Given the description of an element on the screen output the (x, y) to click on. 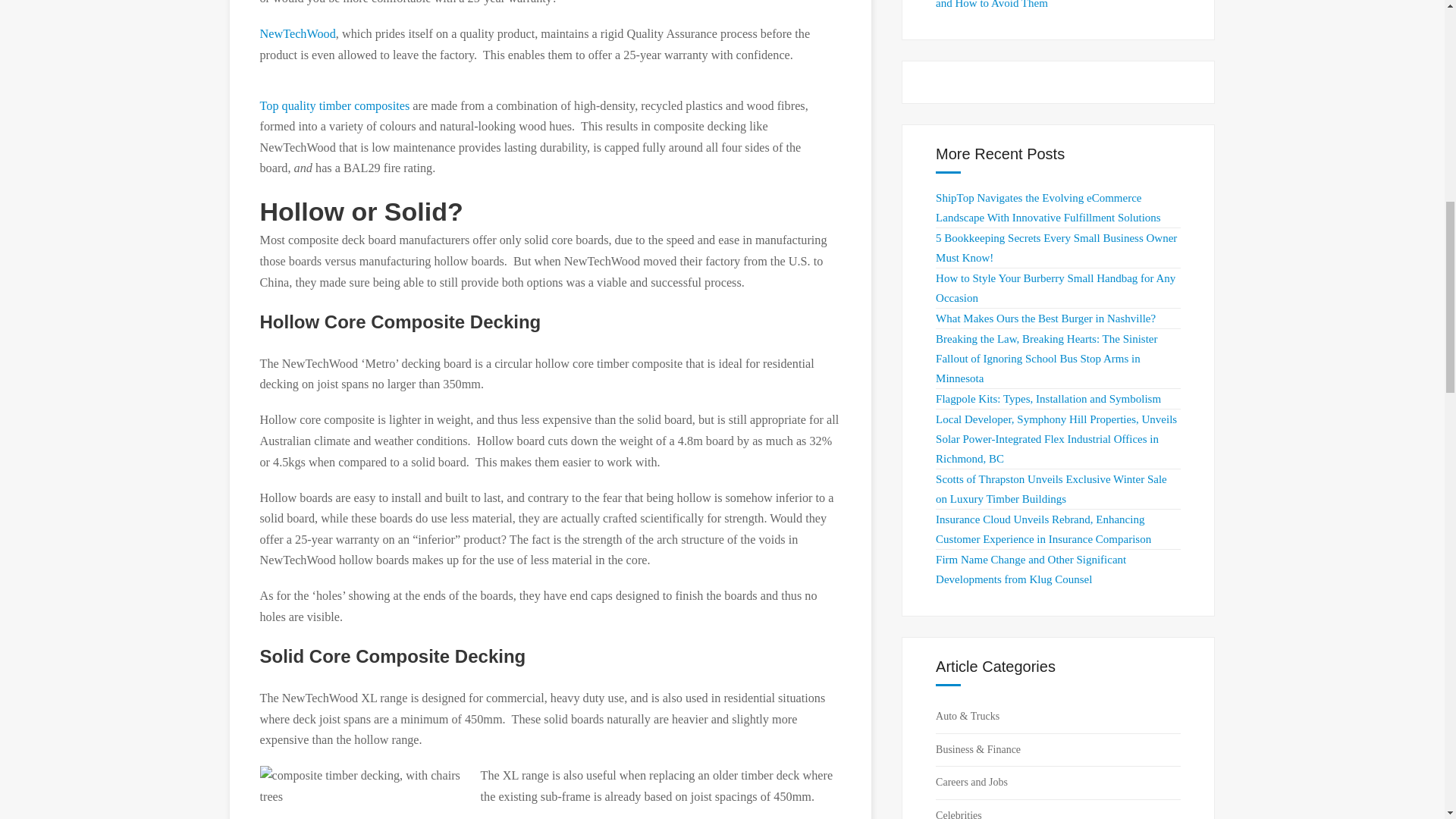
5 Bookkeeping Secrets Every Small Business Owner Must Know! (1056, 247)
How to Style Your Burberry Small Handbag for Any Occasion (1055, 287)
What Makes Ours the Best Burger in Nashville? (1046, 318)
NewTechWood (296, 33)
Top quality timber composites (334, 106)
